Given the description of an element on the screen output the (x, y) to click on. 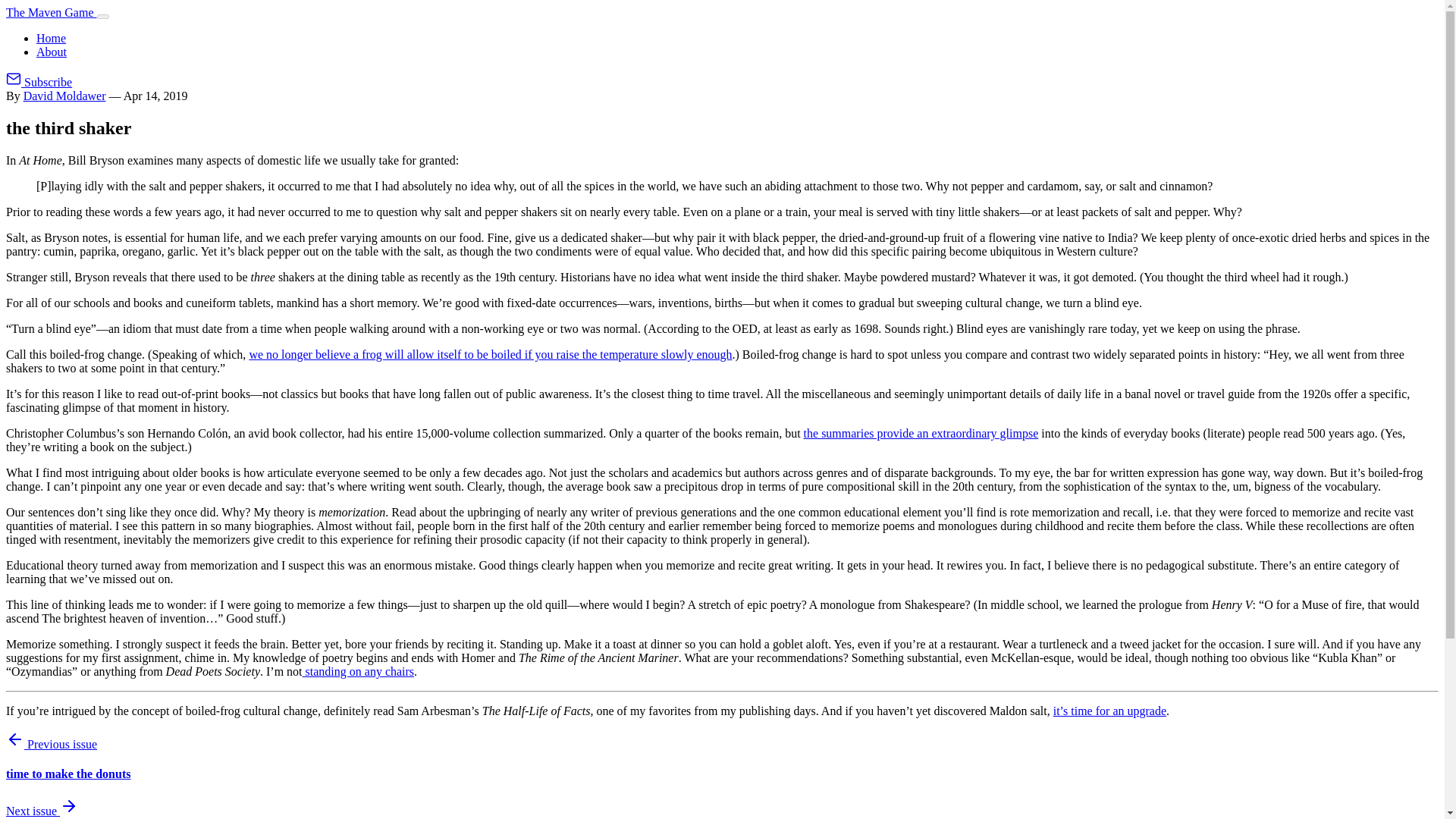
The Maven Game (51, 11)
David Moldawer (64, 95)
standing on any chairs (358, 671)
Subscribe (38, 82)
the summaries provide an extraordinary glimpse (921, 432)
About (51, 51)
Home (50, 38)
